Given the description of an element on the screen output the (x, y) to click on. 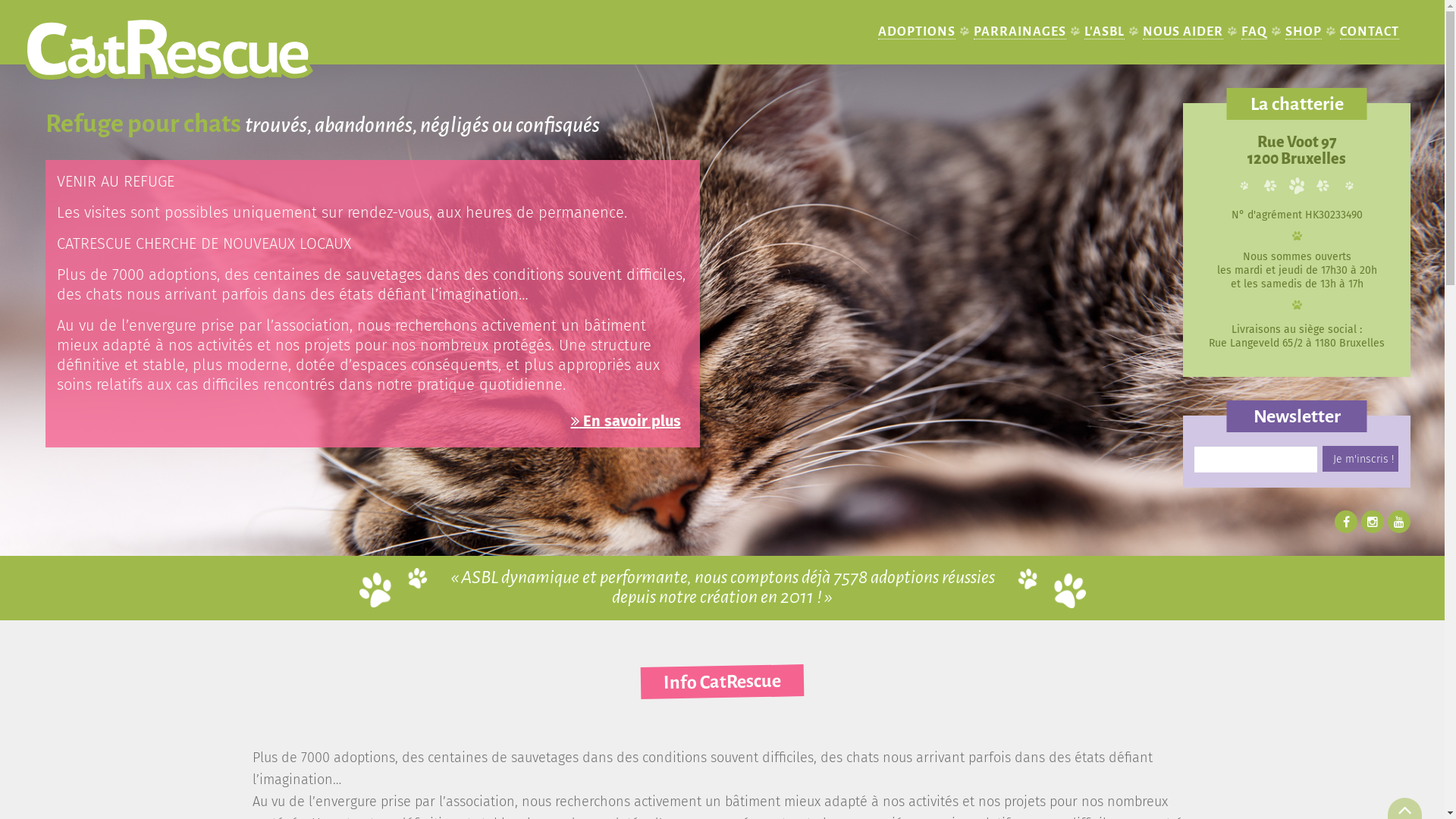
CONTACT Element type: text (1369, 32)
Je m'inscris ! Element type: text (1360, 458)
ADOPTIONS Element type: text (916, 32)
PARRAINAGES Element type: text (1019, 32)
SHOP Element type: text (1303, 32)
FAQ Element type: text (1254, 32)
NOUS AIDER Element type: text (1182, 32)
L'ASBL Element type: text (1104, 32)
CatRescue Element type: text (197, 47)
